Given the description of an element on the screen output the (x, y) to click on. 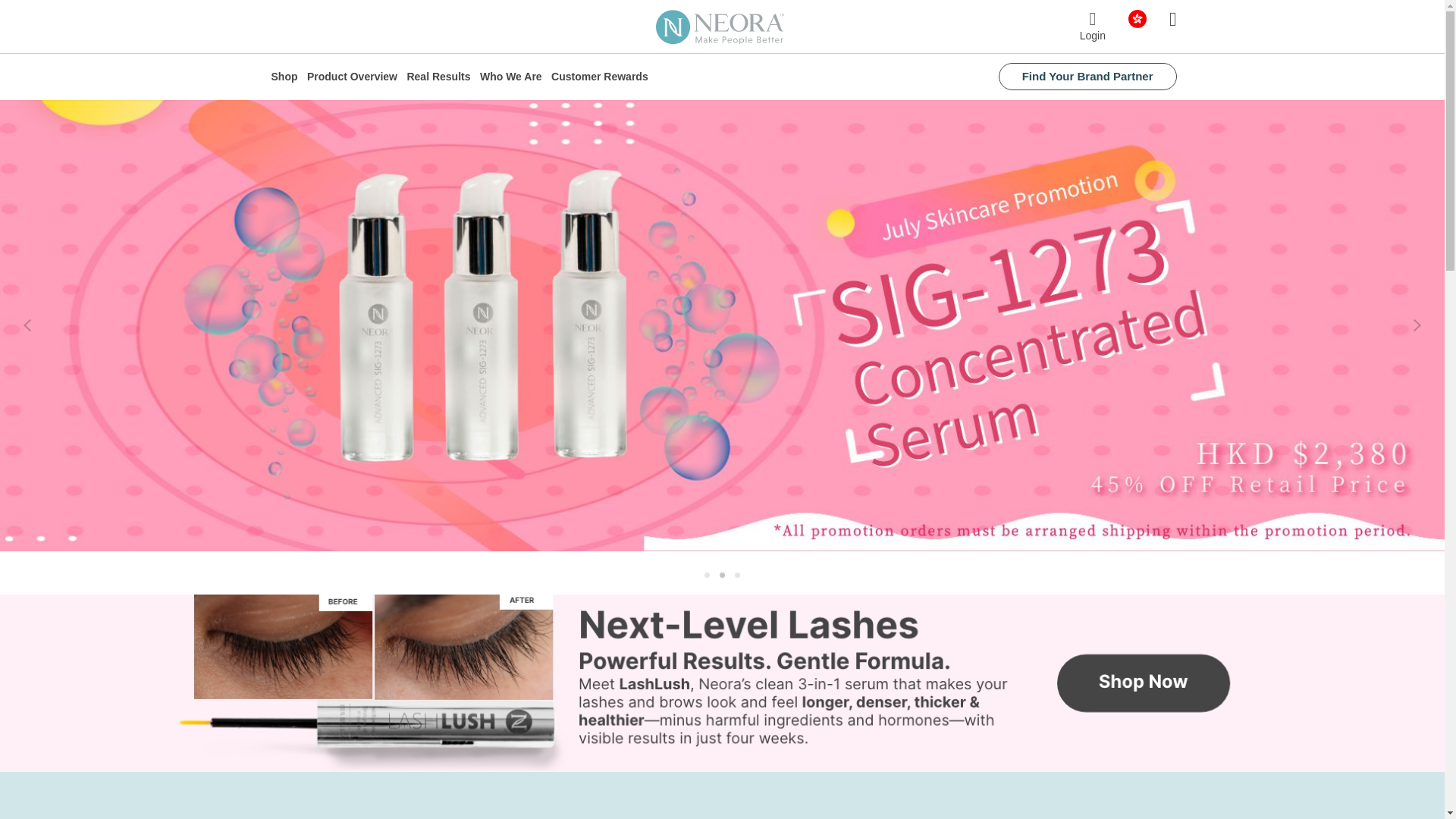
Product Overview (352, 76)
Country (1137, 18)
Shop (284, 76)
